Given the description of an element on the screen output the (x, y) to click on. 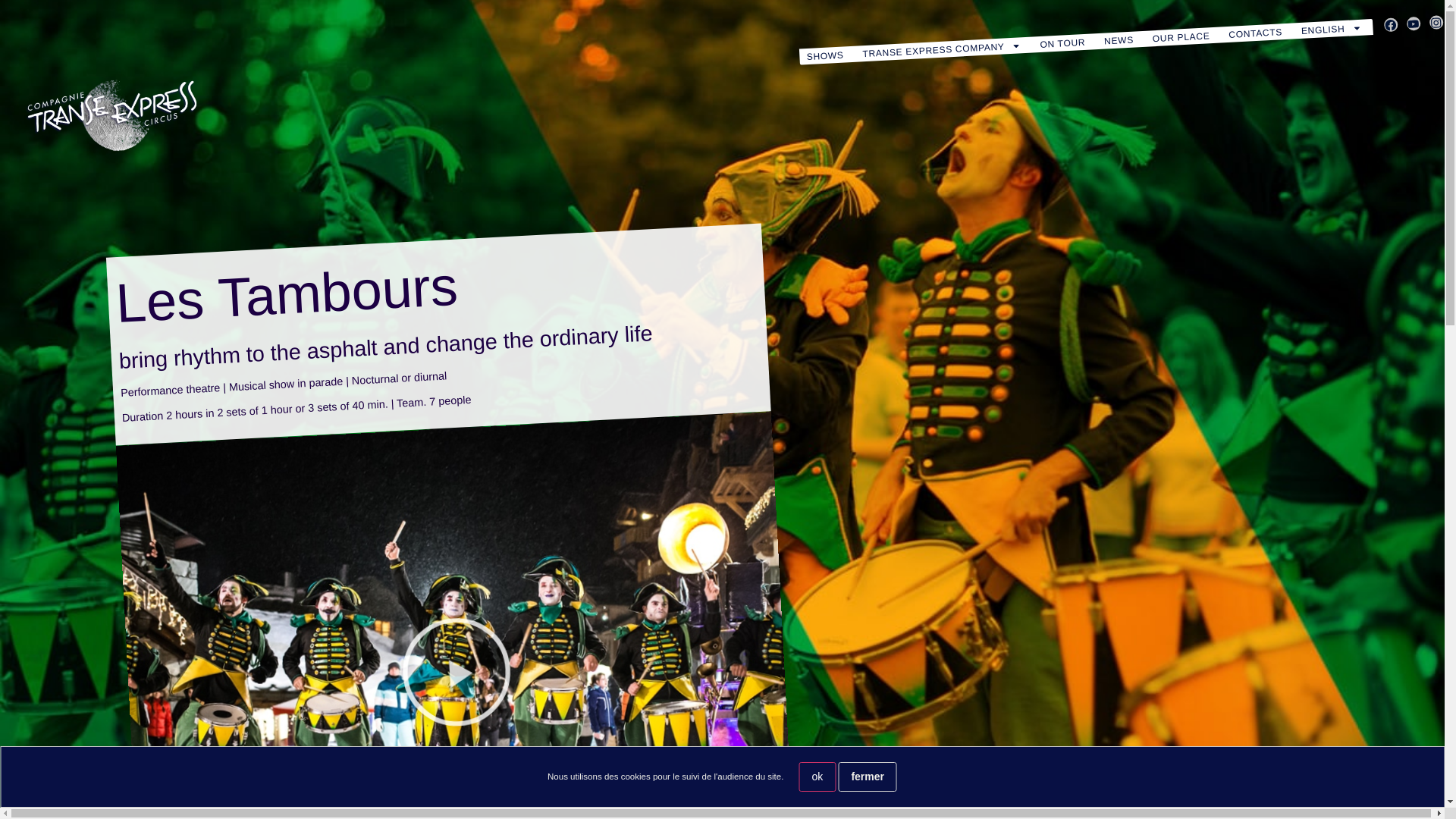
SHOWS (824, 54)
TRANSE EXPRESS COMPANY (941, 45)
fermer (867, 776)
CONTACTS (1254, 31)
OUR PLACE (1179, 35)
ok (816, 776)
ON TOUR (1062, 41)
English (1331, 27)
ENGLISH (1331, 27)
NEWS (1118, 38)
